Given the description of an element on the screen output the (x, y) to click on. 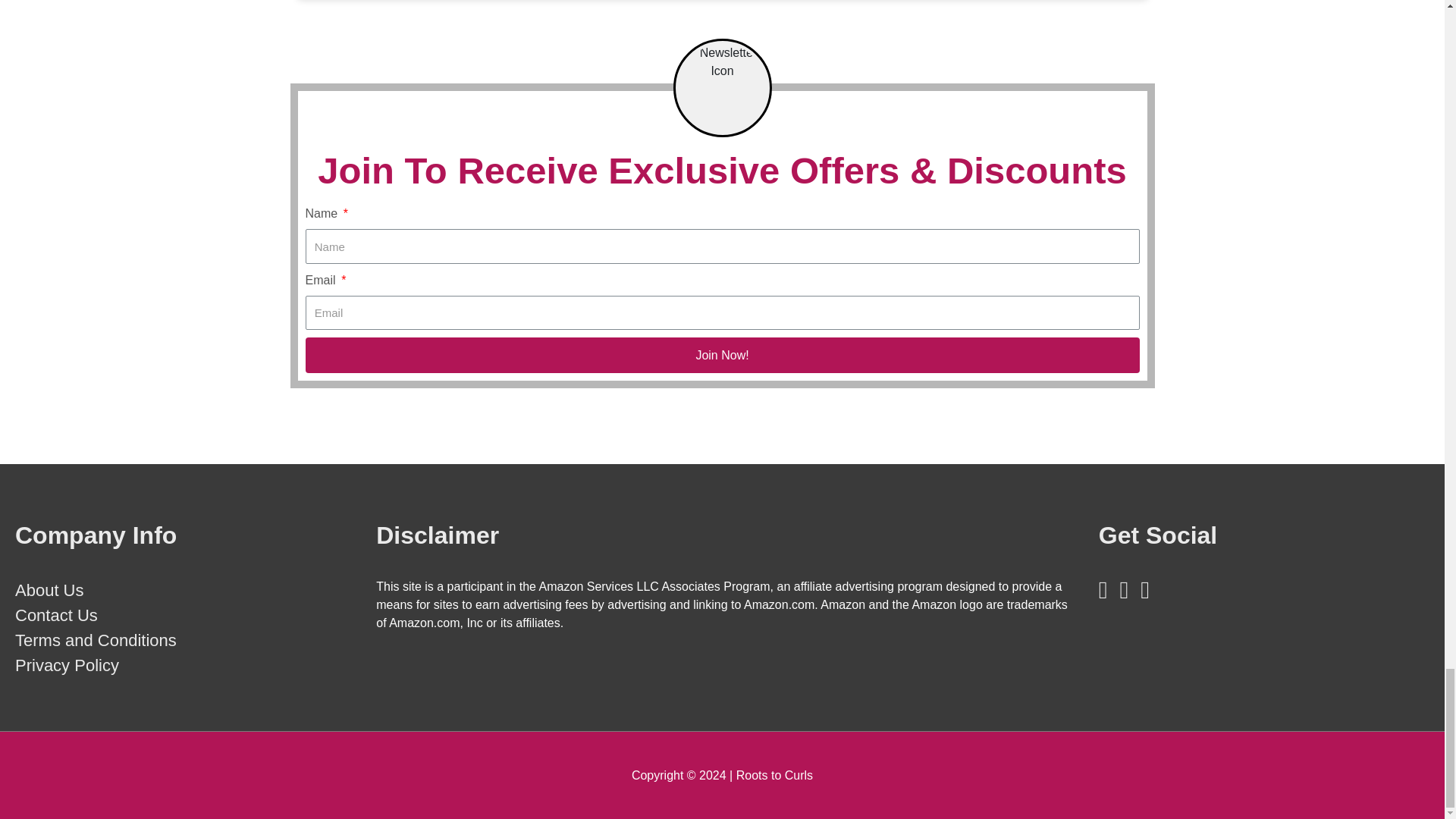
Contact Us (55, 615)
About Us (49, 589)
Join Now! (721, 355)
